Given the description of an element on the screen output the (x, y) to click on. 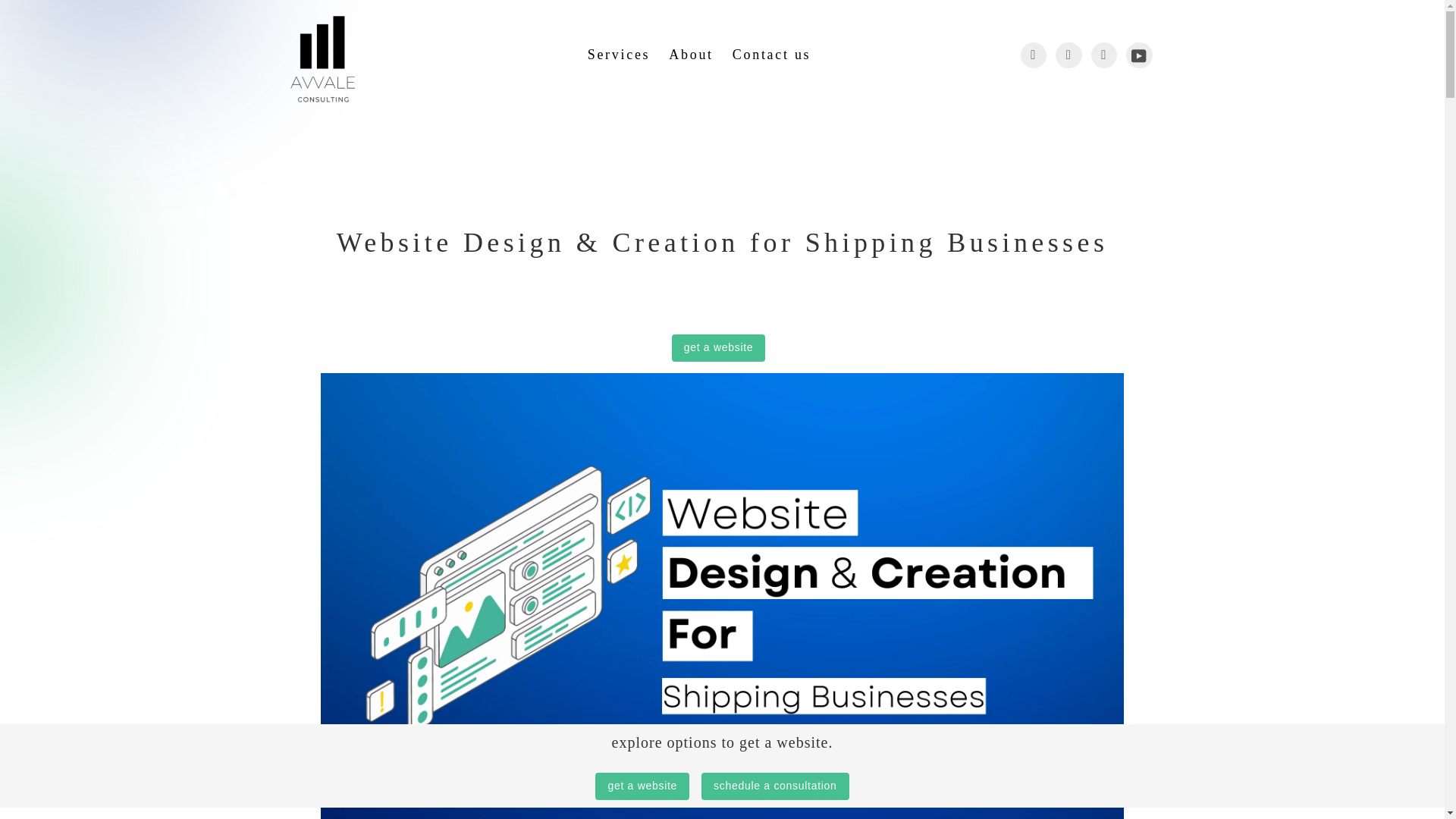
AVVALE on Instagram (1068, 55)
AVVALE on Facebook (1033, 55)
AVVALE on LinkedIn (1103, 55)
Services (623, 55)
AVVALE on YouTube (1139, 55)
